Given the description of an element on the screen output the (x, y) to click on. 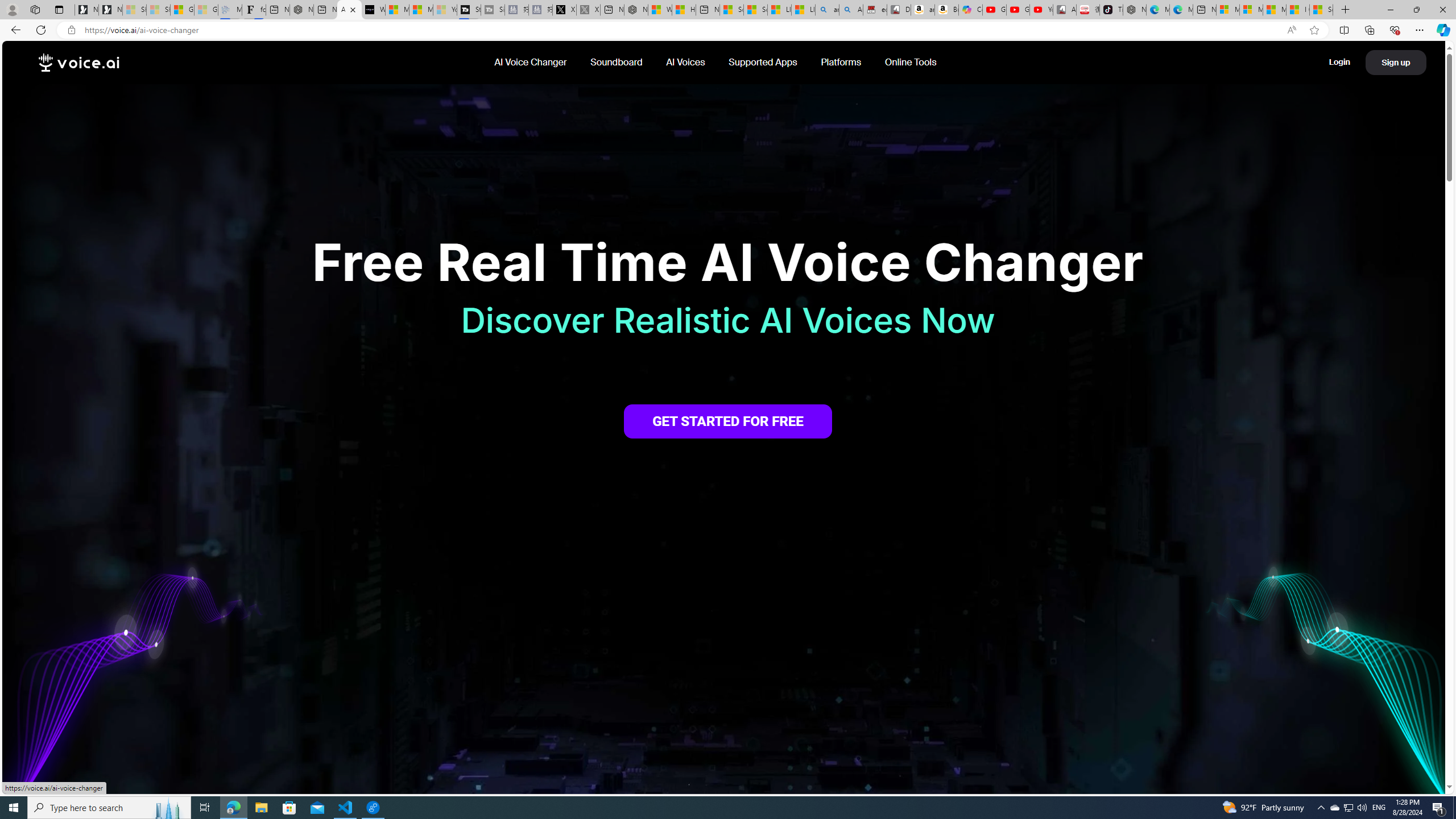
Platforms  (842, 61)
I Gained 20 Pounds of Muscle in 30 Days! | Watch (1297, 9)
amazon.in/dp/B0CX59H5W7/?tag=gsmcom05-21 (922, 9)
TikTok (1111, 9)
AI Voice Changer  (531, 61)
voice.ai (79, 62)
AI Voices  (686, 61)
